Given the description of an element on the screen output the (x, y) to click on. 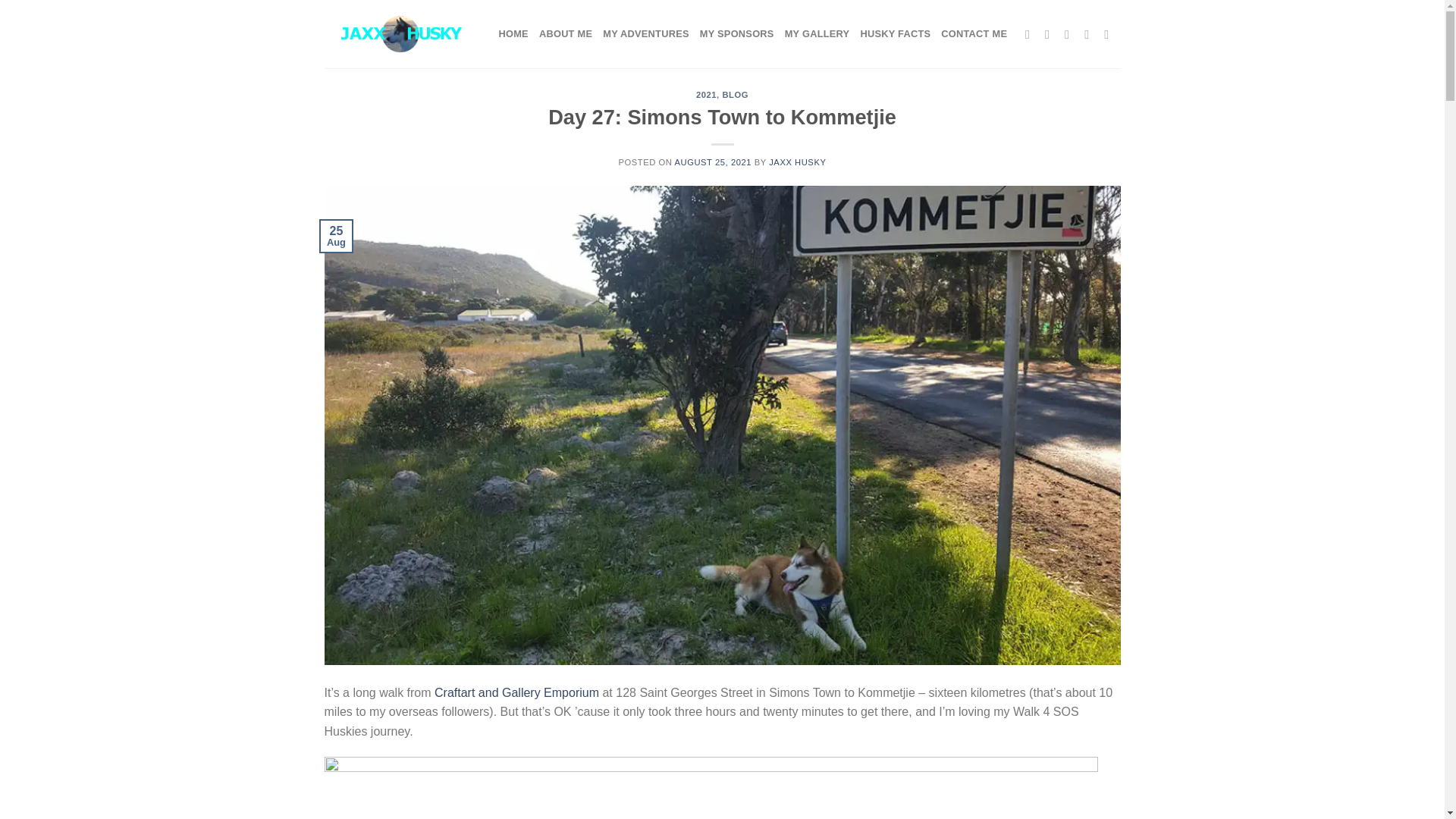
Craftart and Gallery Emporium (515, 692)
2021 (705, 94)
HUSKY FACTS (895, 33)
ABOUT ME (565, 33)
JAXX HUSKY (796, 162)
MY GALLERY (817, 33)
Adventures of a Siberian Husky - Fundraising for good (400, 33)
BLOG (735, 94)
Call us (1109, 33)
CONTACT ME (973, 33)
